Given the description of an element on the screen output the (x, y) to click on. 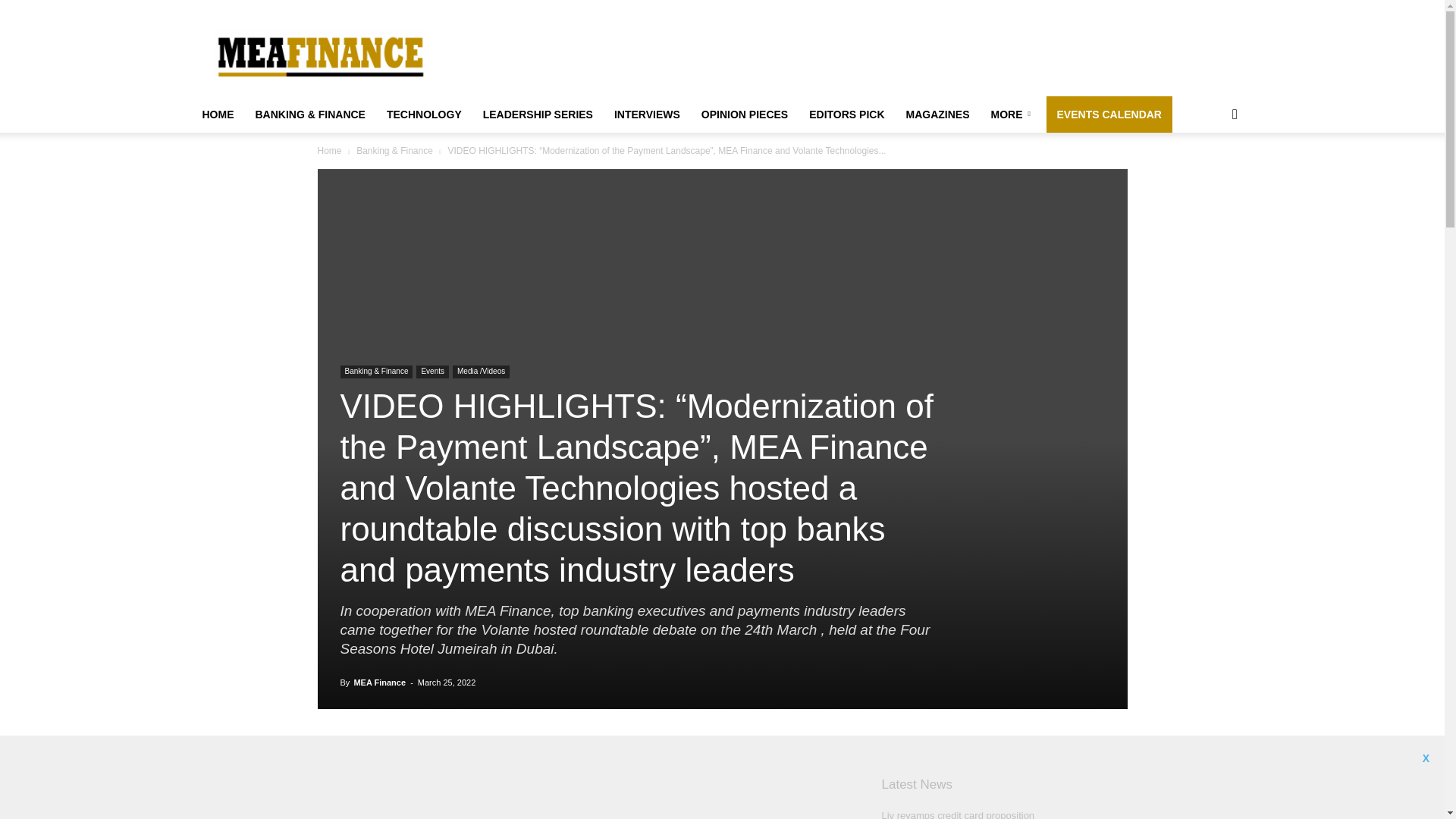
HOME (217, 114)
LEADERSHIP SERIES (537, 114)
TECHNOLOGY (423, 114)
